Given the description of an element on the screen output the (x, y) to click on. 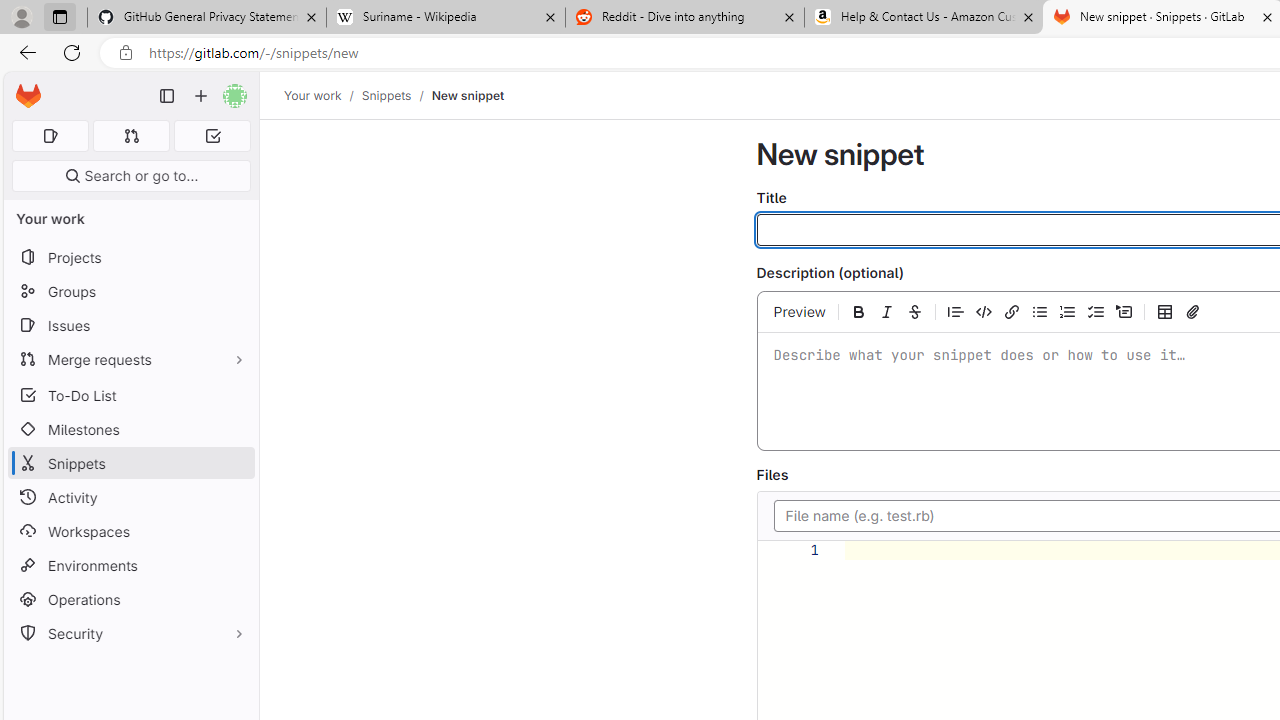
Create new... (201, 96)
Snippets (386, 95)
Your work (312, 95)
Milestones (130, 429)
Merge requests (130, 358)
GitHub General Privacy Statement - GitHub Docs (207, 17)
Homepage (27, 96)
Insert a quote (955, 311)
Merge requests 0 (131, 136)
Add a checklist (1096, 311)
Add a collapsible section (1124, 311)
Environments (130, 564)
